Given the description of an element on the screen output the (x, y) to click on. 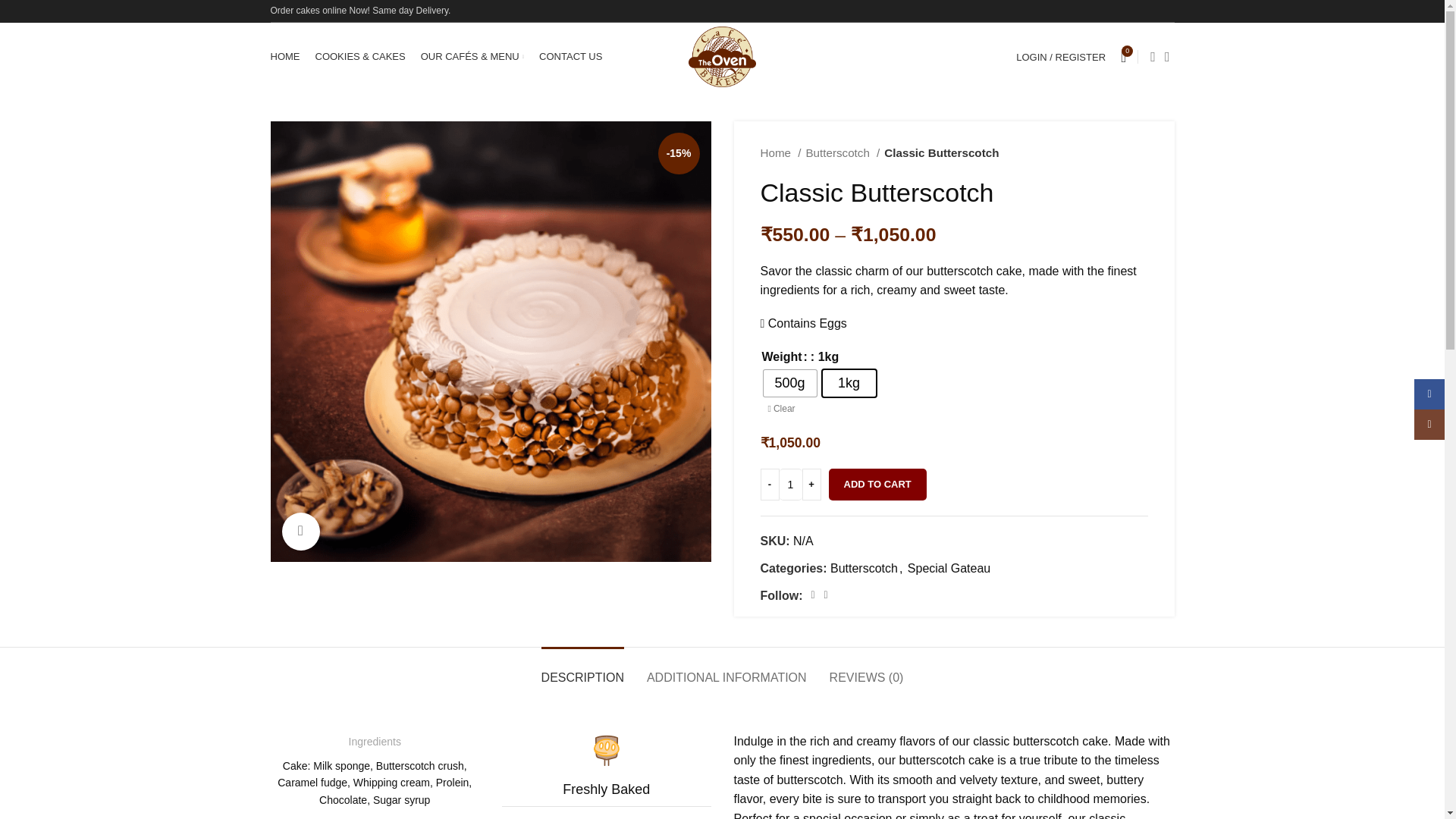
Home (780, 153)
DESCRIPTION (582, 669)
1kg (848, 383)
Special Gateau (948, 567)
500g (788, 383)
Butterscotch (863, 567)
CONTACT US (570, 56)
My account (1061, 56)
Clear (780, 408)
HOME (284, 56)
Butterscotch (842, 153)
ADD TO CART (877, 484)
ADDITIONAL INFORMATION (726, 669)
